Given the description of an element on the screen output the (x, y) to click on. 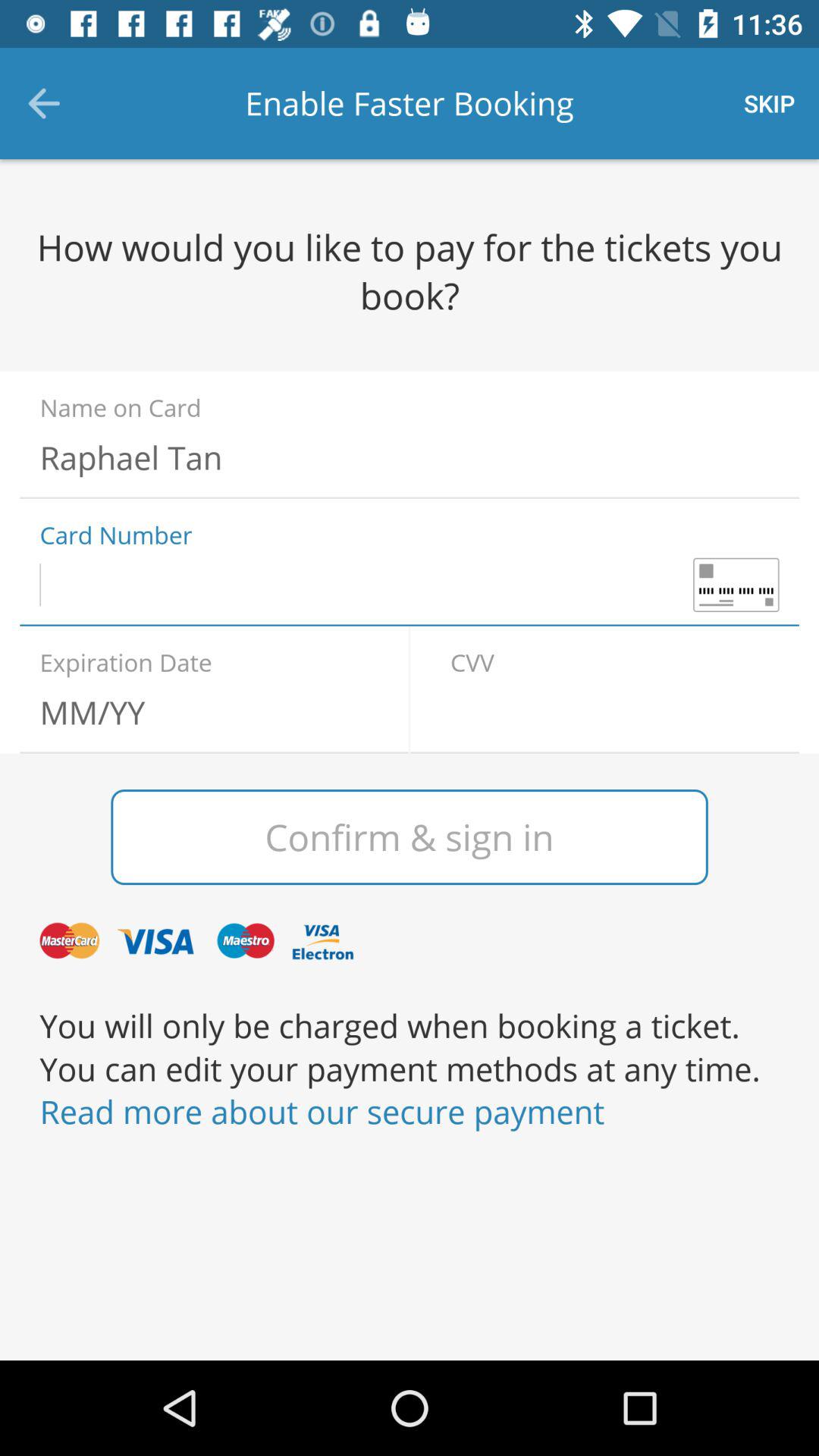
enter card number (409, 584)
